Given the description of an element on the screen output the (x, y) to click on. 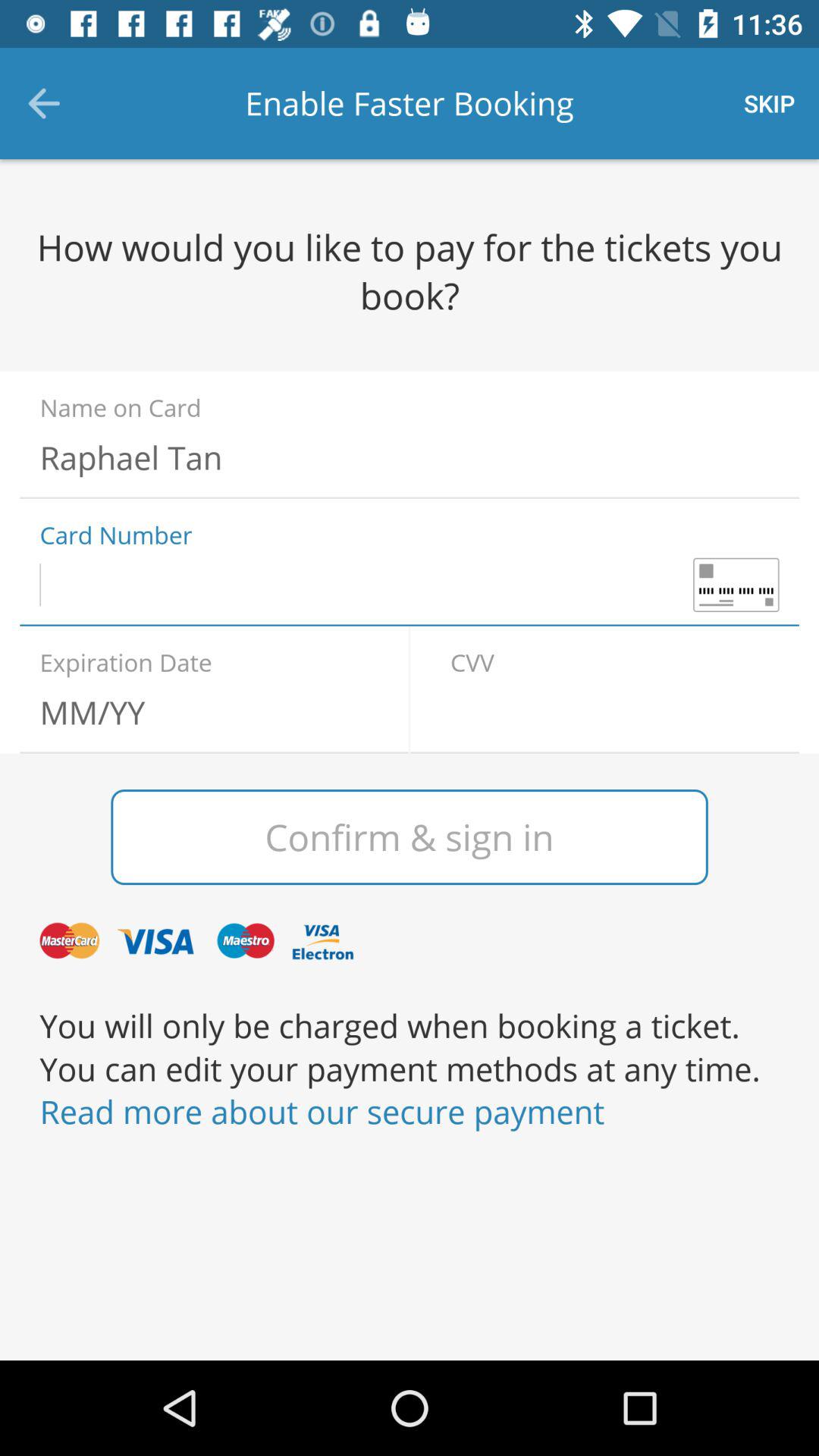
enter card number (409, 584)
